Given the description of an element on the screen output the (x, y) to click on. 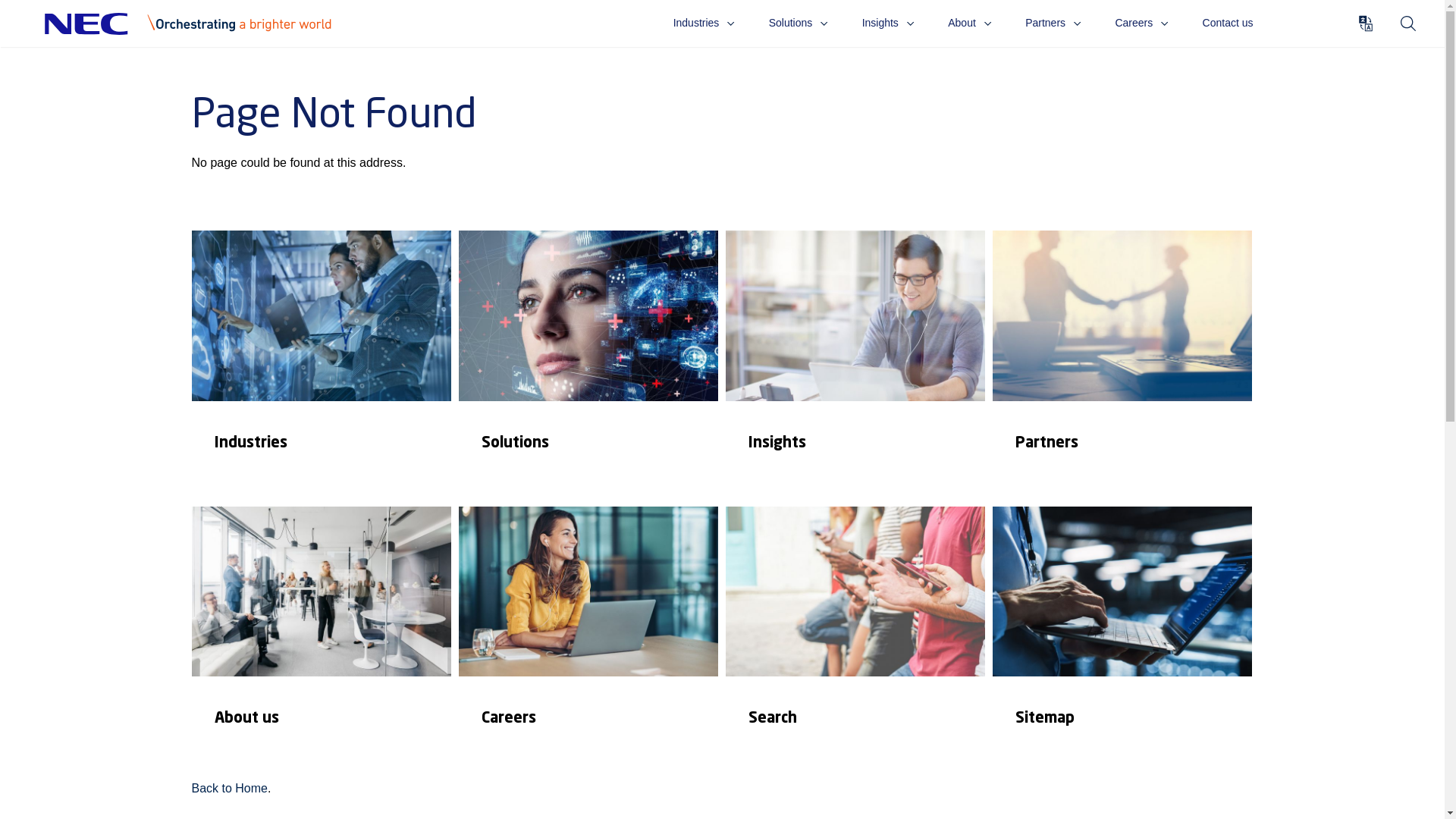
About Element type: text (969, 22)
Solutions Element type: text (587, 364)
Insights Element type: text (854, 364)
Back to Home Element type: text (228, 787)
View page in another language Element type: text (1365, 22)
Partners Element type: text (1053, 22)
Industries Element type: text (320, 364)
Industries Element type: text (704, 22)
Contact us Element type: text (1227, 22)
Careers Element type: text (587, 640)
Skip to Content (Press Enter) Element type: text (363, 14)
Insights Element type: text (888, 22)
NEC Australia Element type: text (196, 23)
Sitemap Element type: text (1121, 640)
Partners Element type: text (1121, 364)
About us Element type: text (320, 640)
Careers Element type: text (1141, 22)
Search Element type: text (854, 640)
Search Element type: text (1407, 22)
Solutions Element type: text (798, 22)
